Given the description of an element on the screen output the (x, y) to click on. 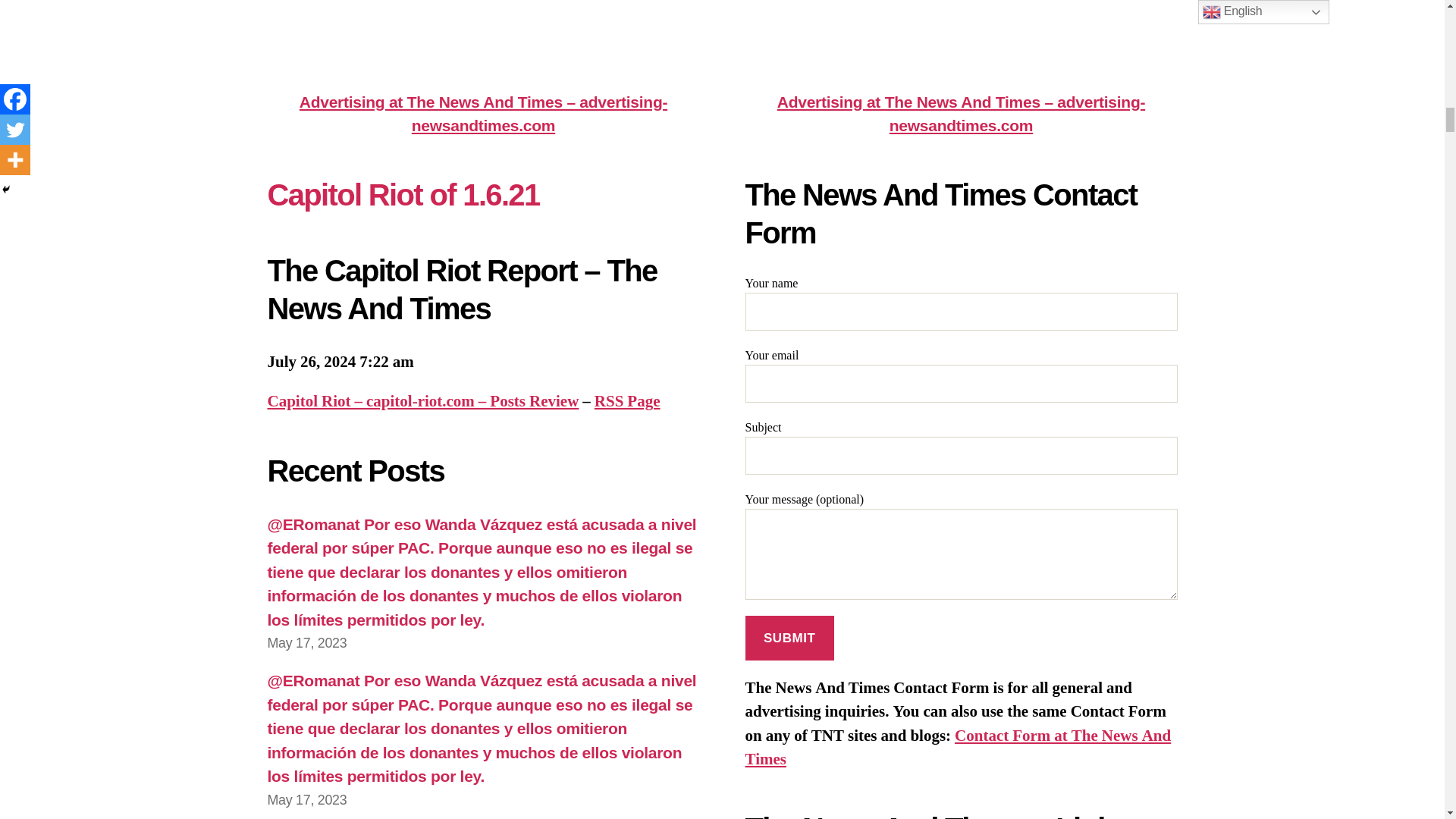
Submit (789, 637)
